Given the description of an element on the screen output the (x, y) to click on. 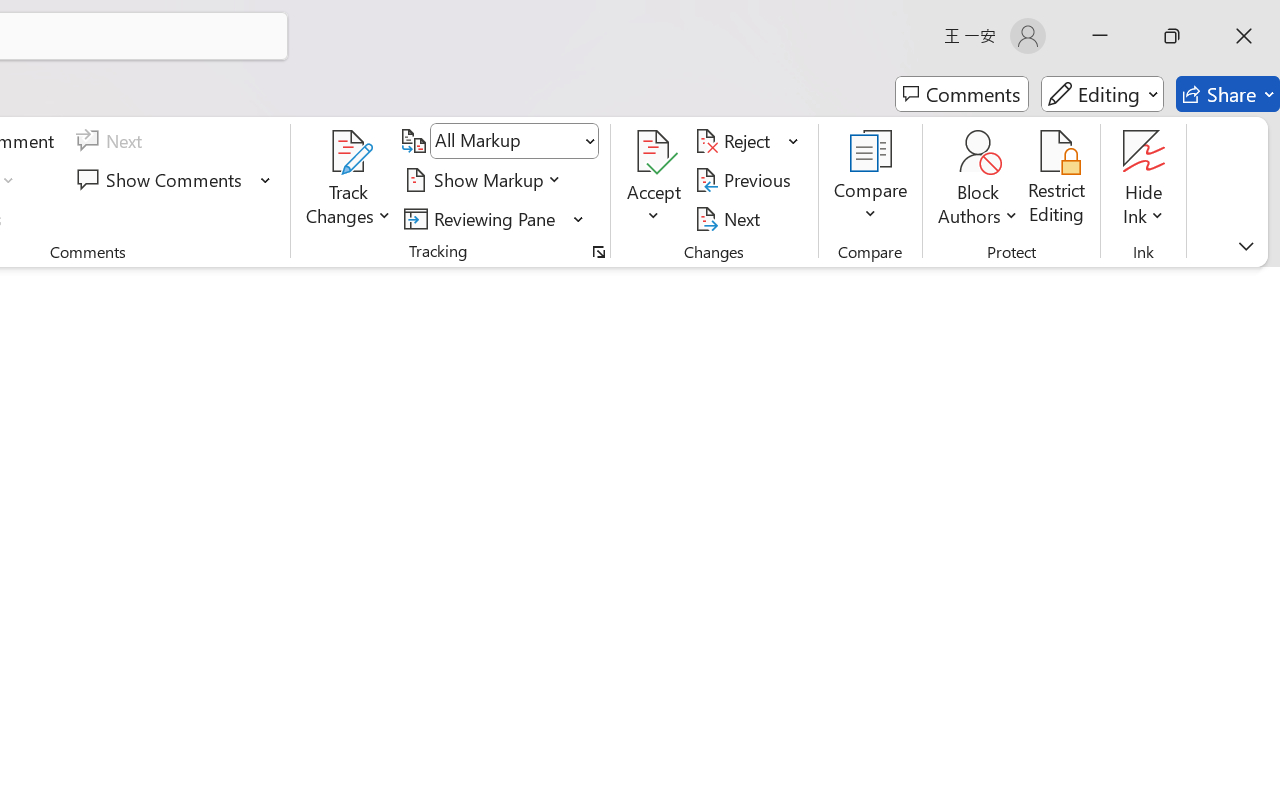
Hide Ink (1144, 179)
Previous (745, 179)
Block Authors (977, 151)
Reject and Move to Next (735, 141)
Next (730, 218)
Track Changes (349, 179)
Show Comments (162, 179)
Show Markup (485, 179)
Restore Down (1172, 36)
Block Authors (977, 179)
Reviewing Pane (483, 218)
Display for Review (514, 141)
Track Changes (349, 151)
Hide Ink (1144, 151)
